Given the description of an element on the screen output the (x, y) to click on. 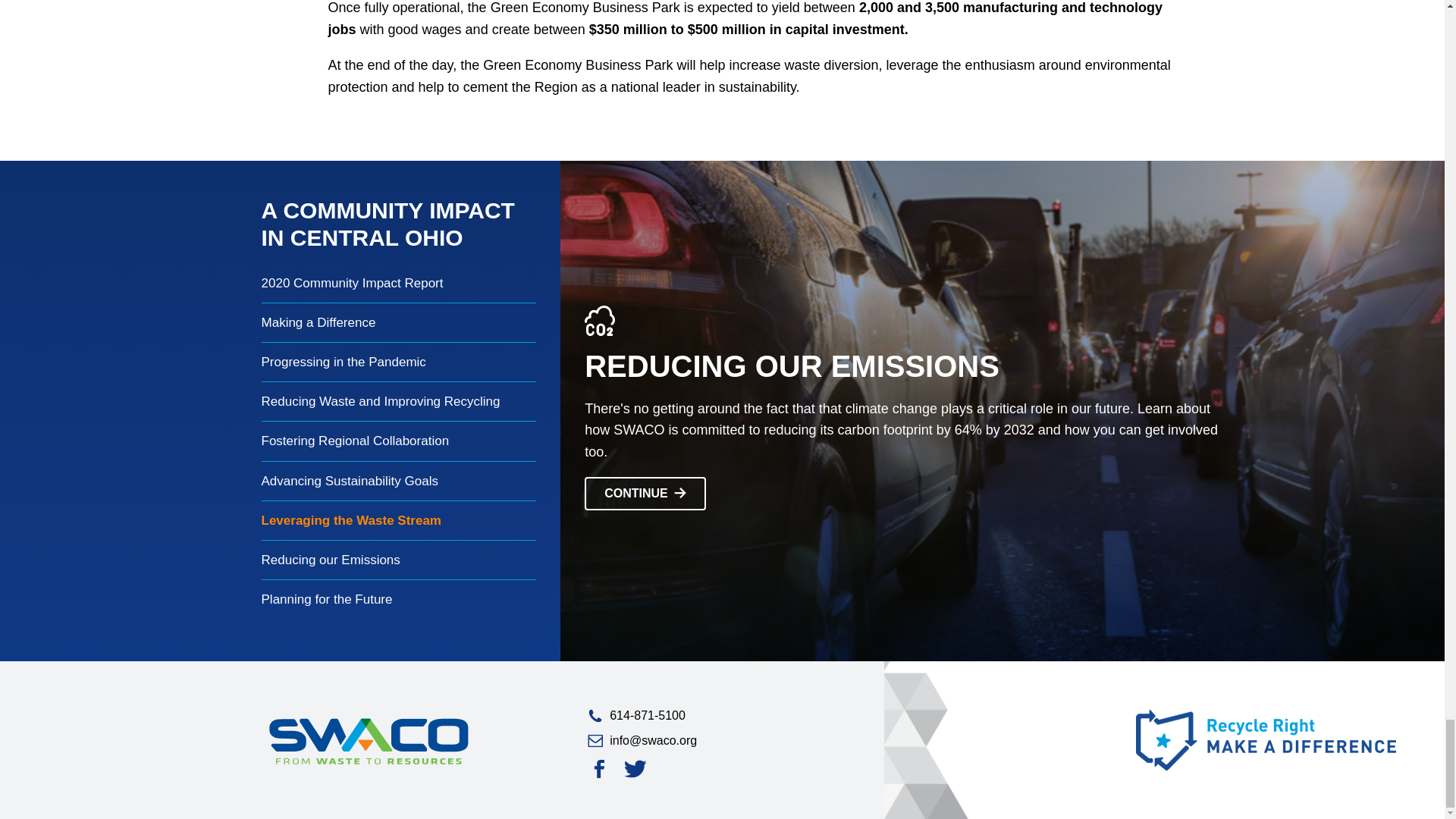
CONTINUE (645, 493)
Reducing Waste and Improving Recycling (399, 401)
Fostering Regional Collaboration (399, 440)
Planning for the Future (399, 598)
Twitter (635, 768)
Making a Difference (399, 322)
Leveraging the Waste Stream (399, 520)
Progressing in the Pandemic (399, 362)
614-871-5100 (723, 715)
Advancing Sustainability Goals (399, 480)
